Given the description of an element on the screen output the (x, y) to click on. 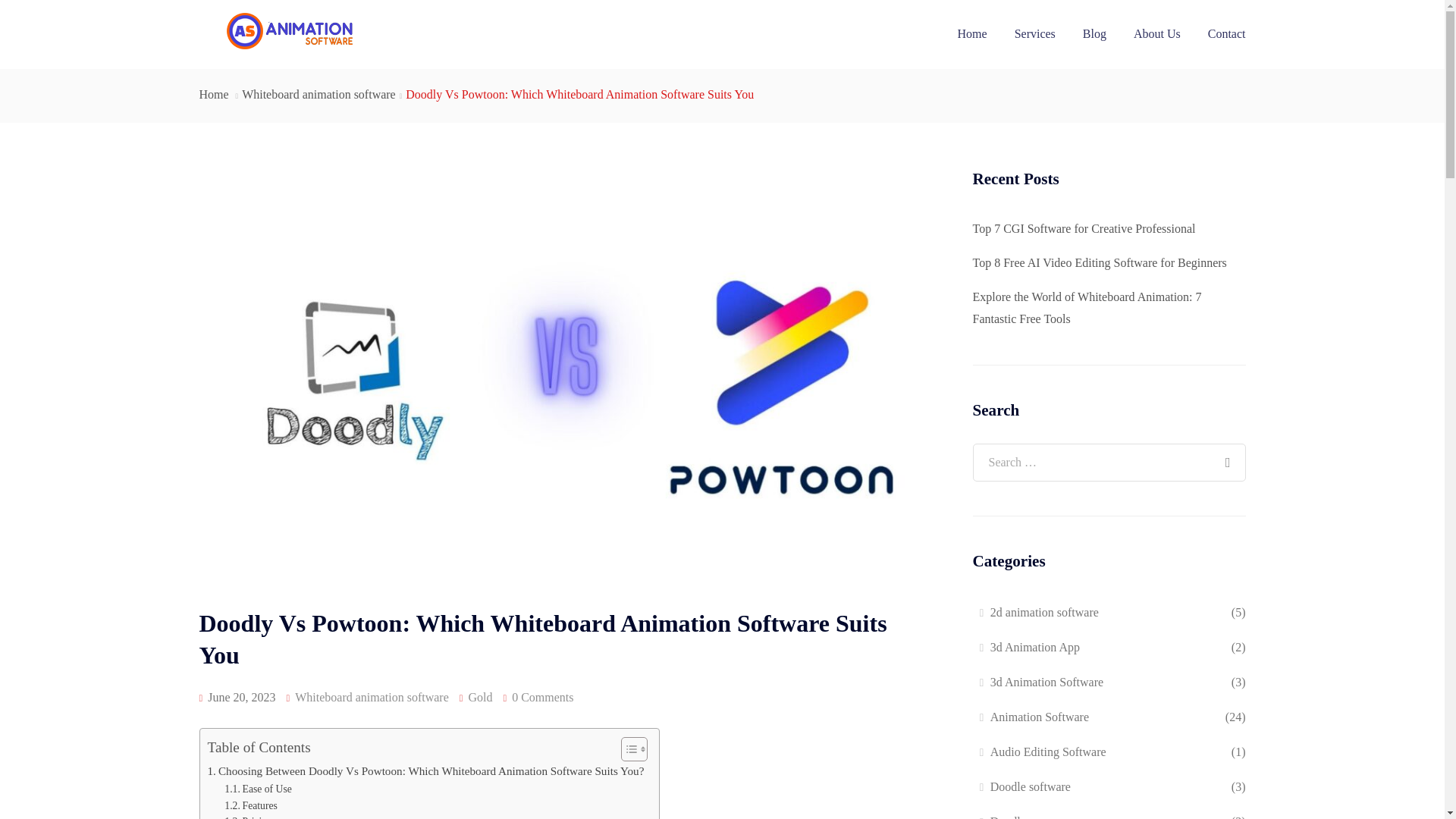
Home (213, 93)
0 Comments (542, 697)
Whiteboard animation software (371, 697)
3d Animation Software (1046, 681)
Pricing (248, 816)
Ease of Use (258, 789)
Top 8 Free AI Video Editing Software for Beginners (1098, 262)
2d animation software (1044, 612)
